Given the description of an element on the screen output the (x, y) to click on. 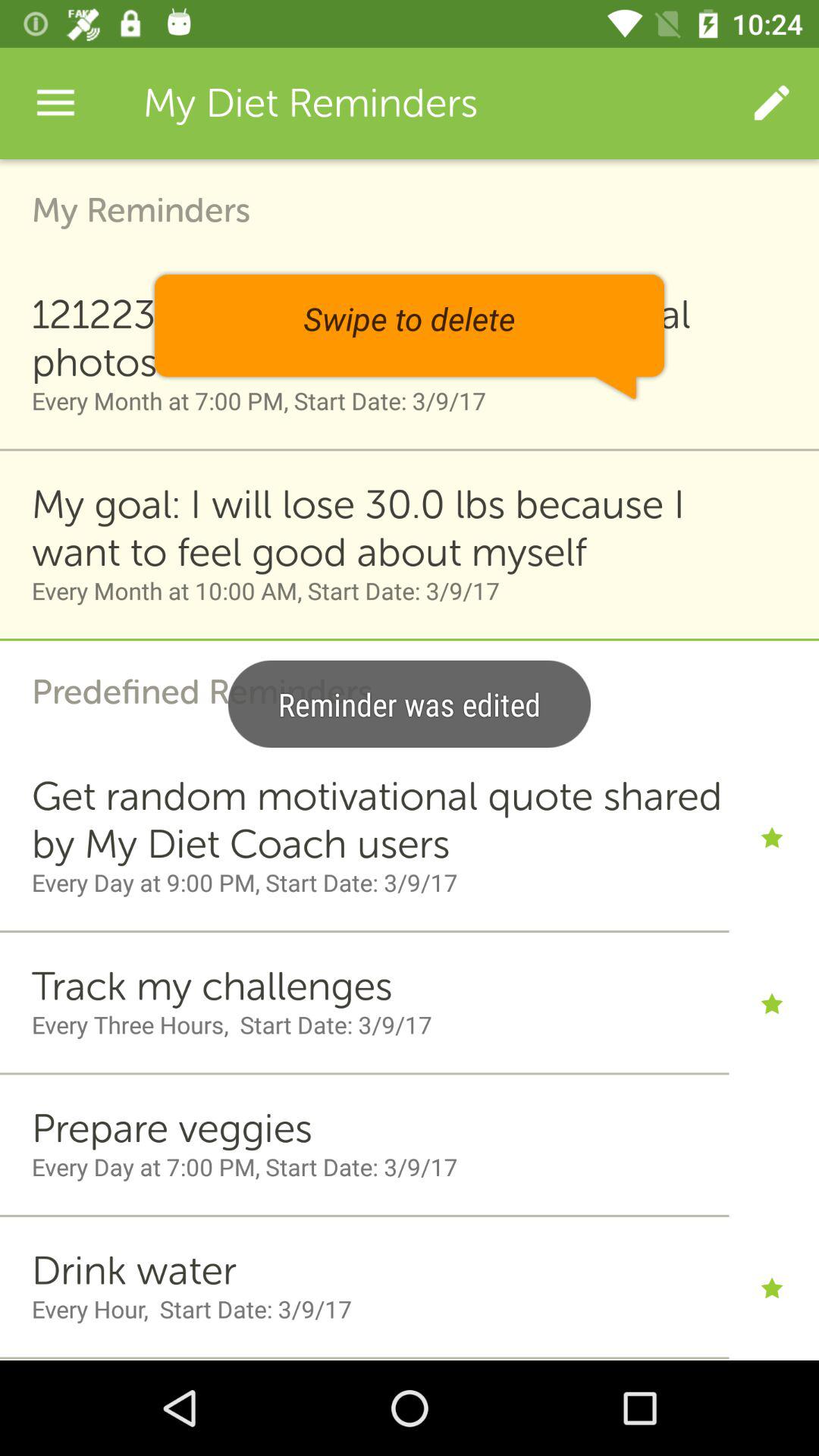
click on swipe to delete (409, 335)
